Given the description of an element on the screen output the (x, y) to click on. 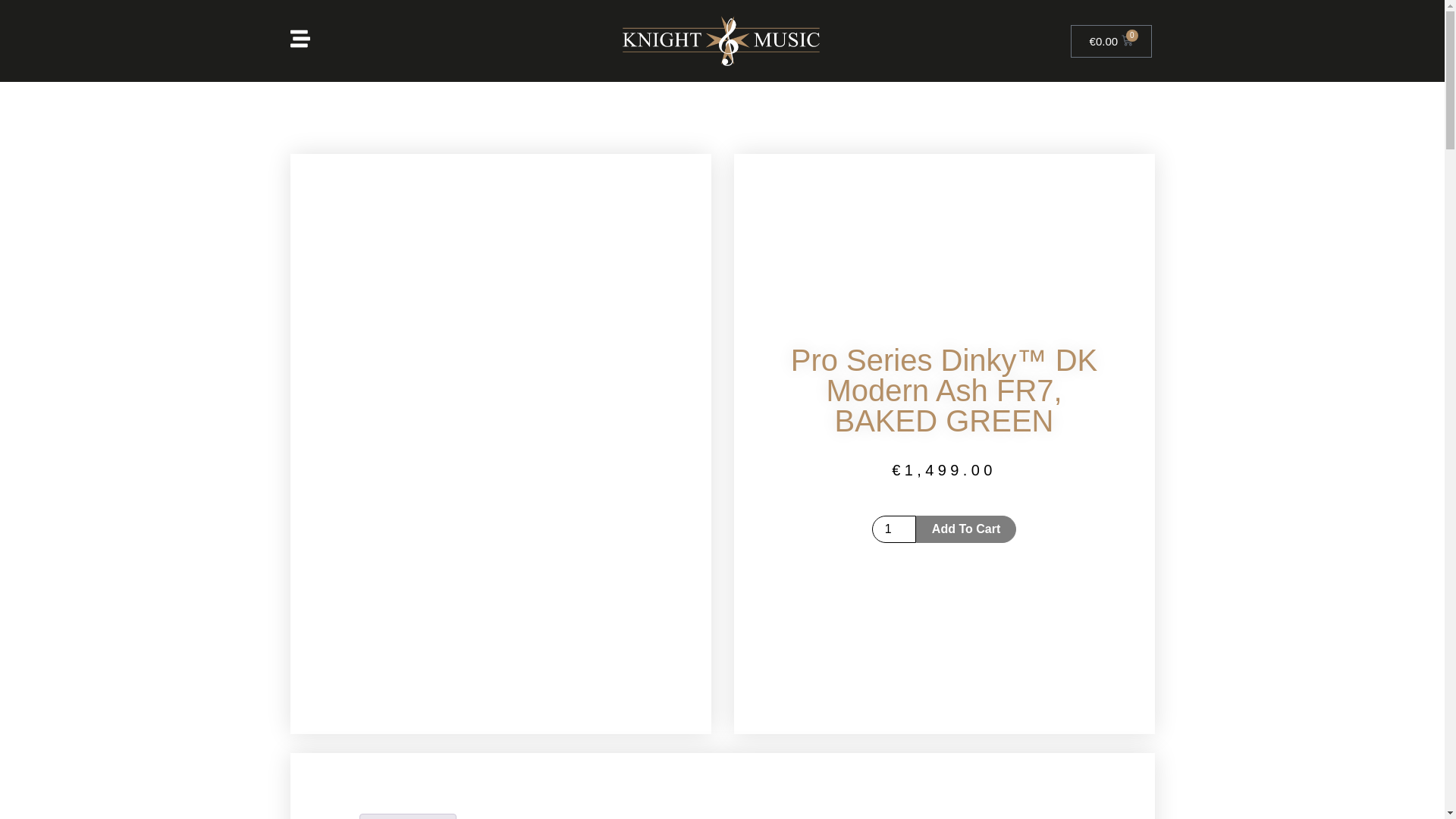
Add To Cart (965, 528)
Description (406, 816)
1 (893, 528)
